Given the description of an element on the screen output the (x, y) to click on. 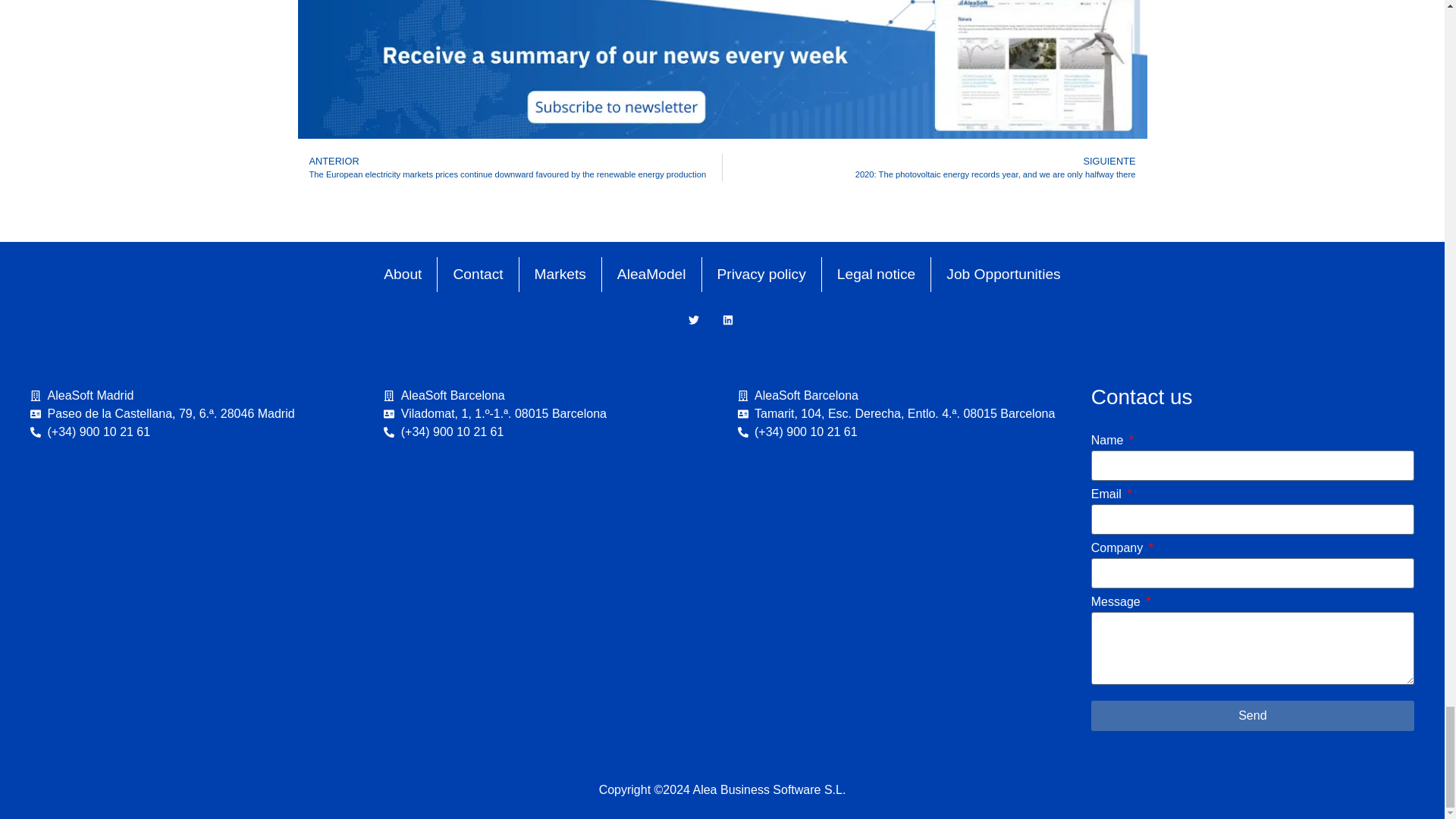
Paseo de la Castellana 79, 28046, Madrid, Spain (191, 569)
Tamarit 104, 08015 (897, 569)
